Given the description of an element on the screen output the (x, y) to click on. 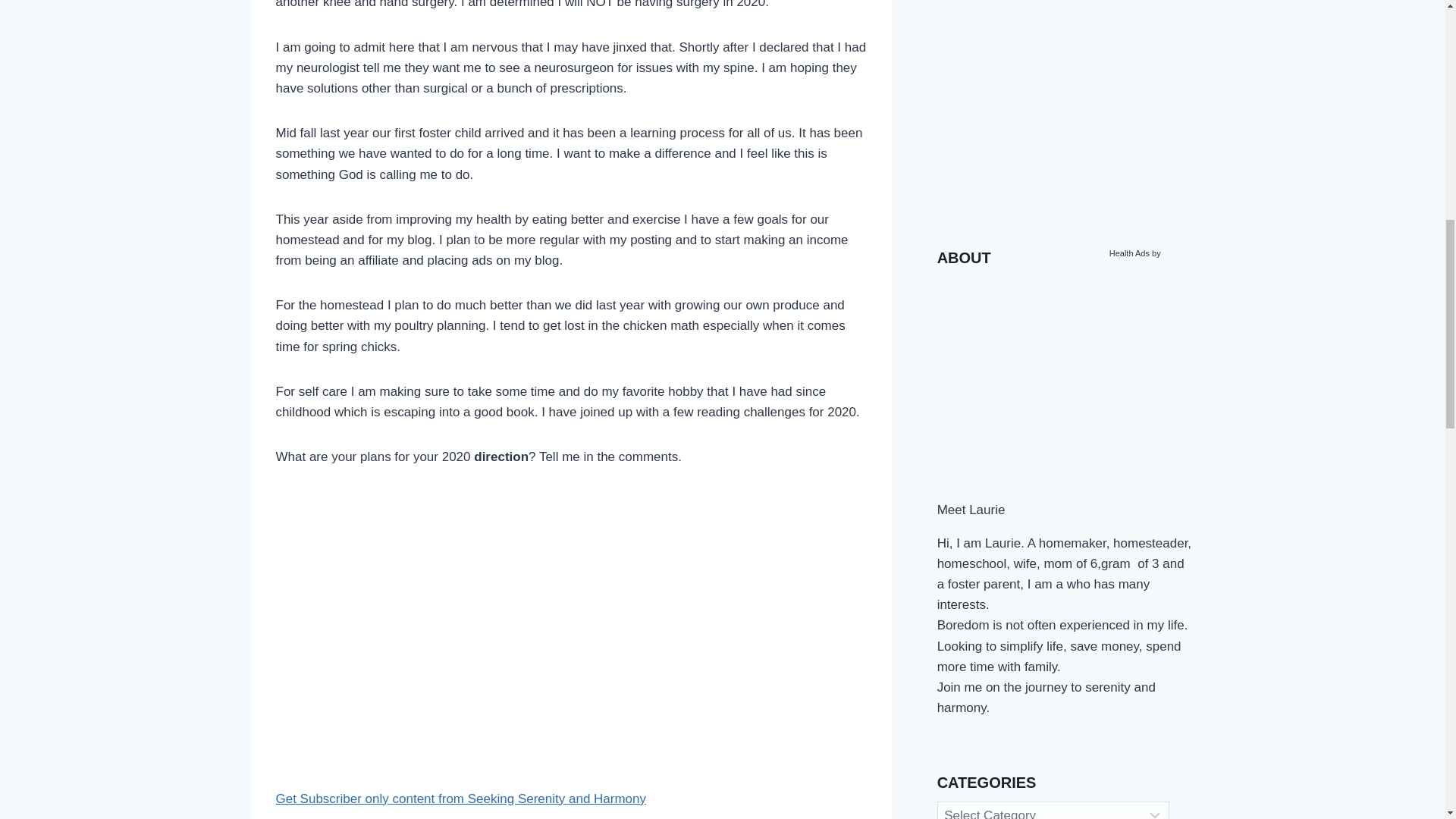
Health Ads (1129, 384)
